Given the description of an element on the screen output the (x, y) to click on. 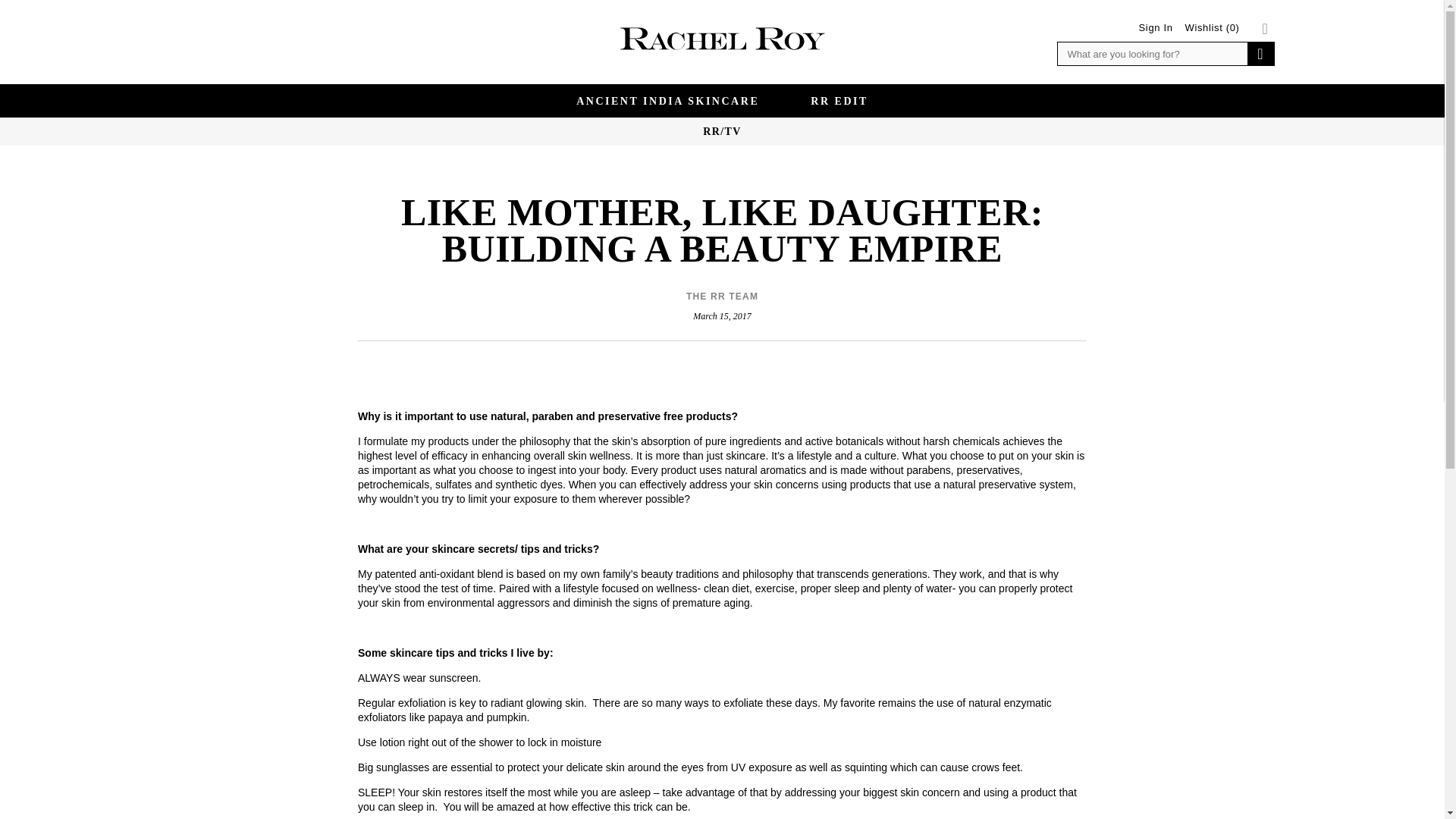
RR EDIT (838, 100)
Sign In (1155, 27)
ANCIENT INDIA SKINCARE (667, 100)
Search (1259, 53)
